Given the description of an element on the screen output the (x, y) to click on. 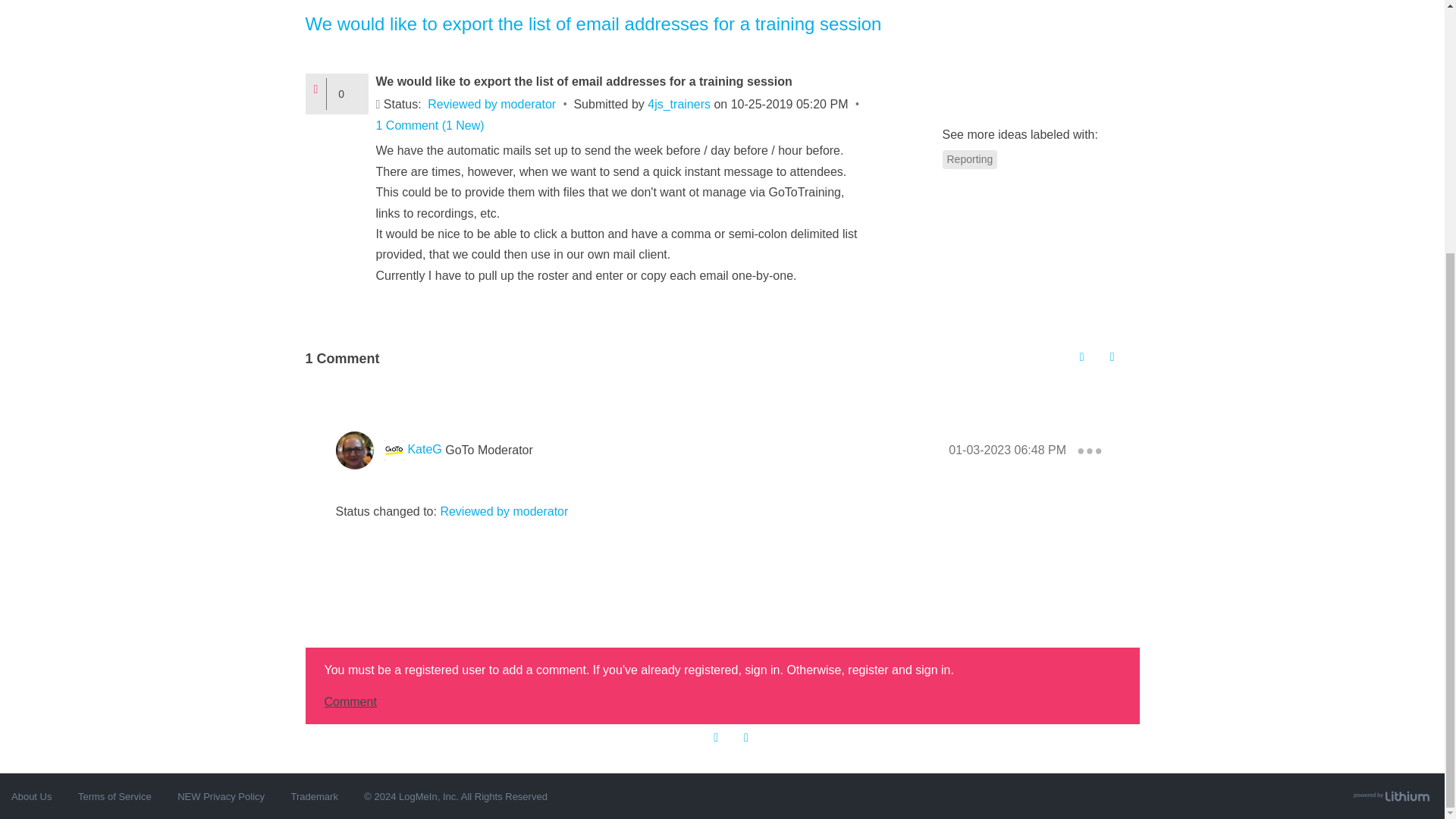
Reviewed by moderator (492, 103)
GoToTraining Community Ideas (1059, 346)
KateG (424, 449)
Comment (350, 701)
The total number of kudos this post has received. (347, 93)
Reviewed by moderator (503, 511)
Reporting (969, 158)
